Given the description of an element on the screen output the (x, y) to click on. 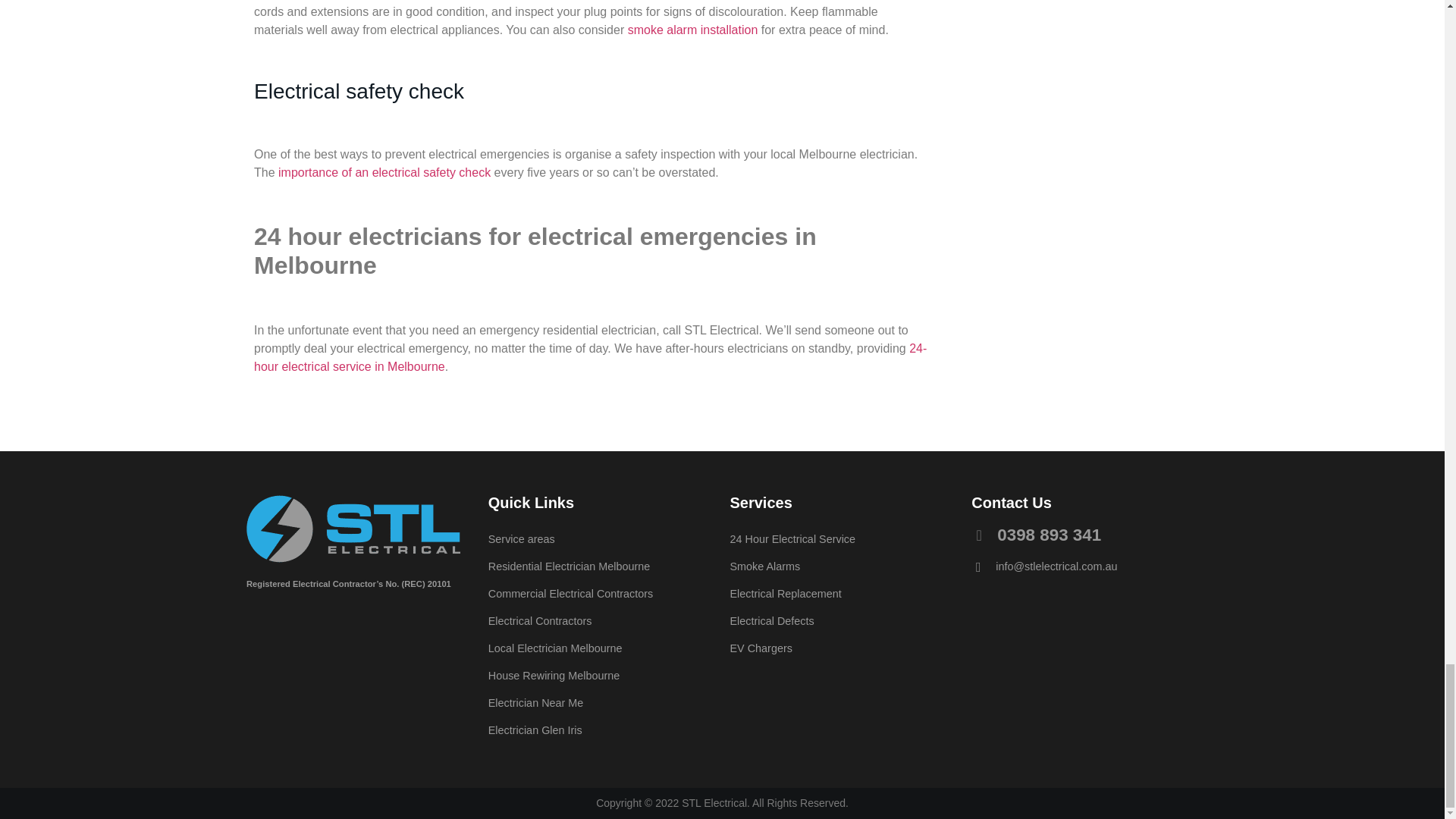
24-hour electrical service in Melbourne (589, 357)
importance of an electrical safety check (384, 172)
smoke alarm installation (692, 29)
Residential Electrician Melbourne (600, 565)
Service areas (600, 538)
